Given the description of an element on the screen output the (x, y) to click on. 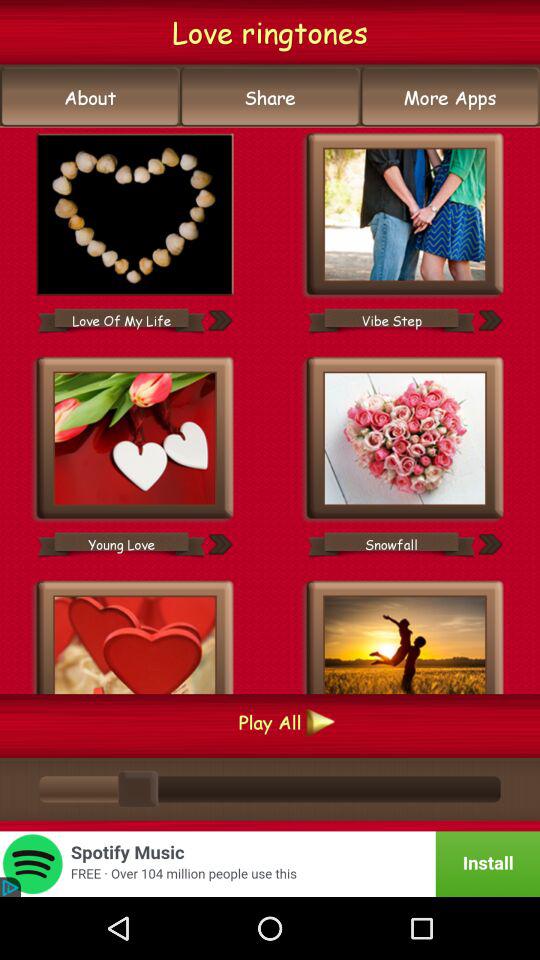
turn on love of my (121, 320)
